Given the description of an element on the screen output the (x, y) to click on. 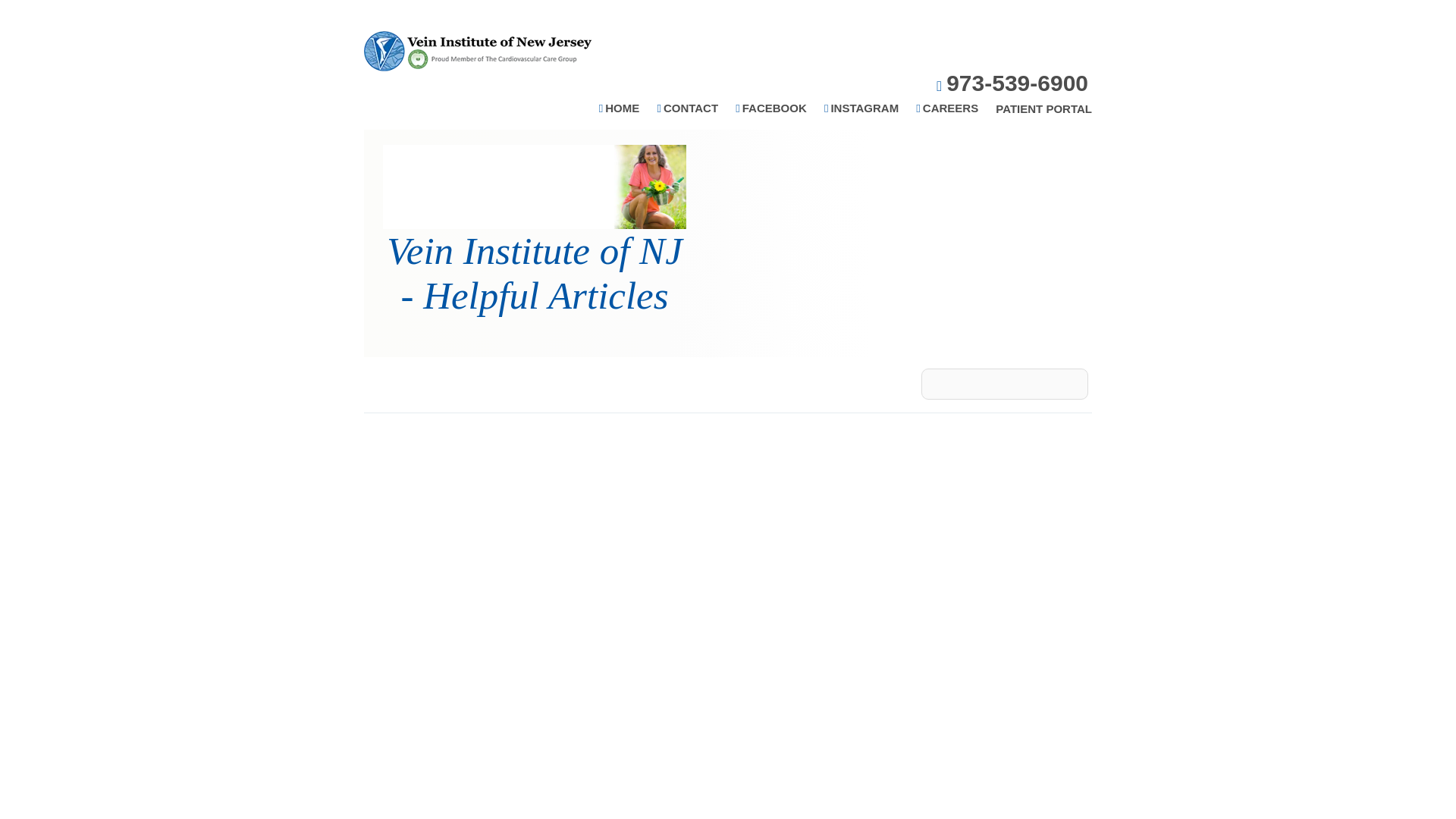
PATIENT PORTAL (1043, 108)
973-539-6900 (1011, 83)
INSTAGRAM (861, 108)
FACEBOOK (770, 108)
Vein Institute of NJ logo (477, 50)
HOME (618, 108)
CAREERS (946, 108)
CONTACT (686, 108)
pg-header-cs-woman-50plus.jpg (533, 186)
